Given the description of an element on the screen output the (x, y) to click on. 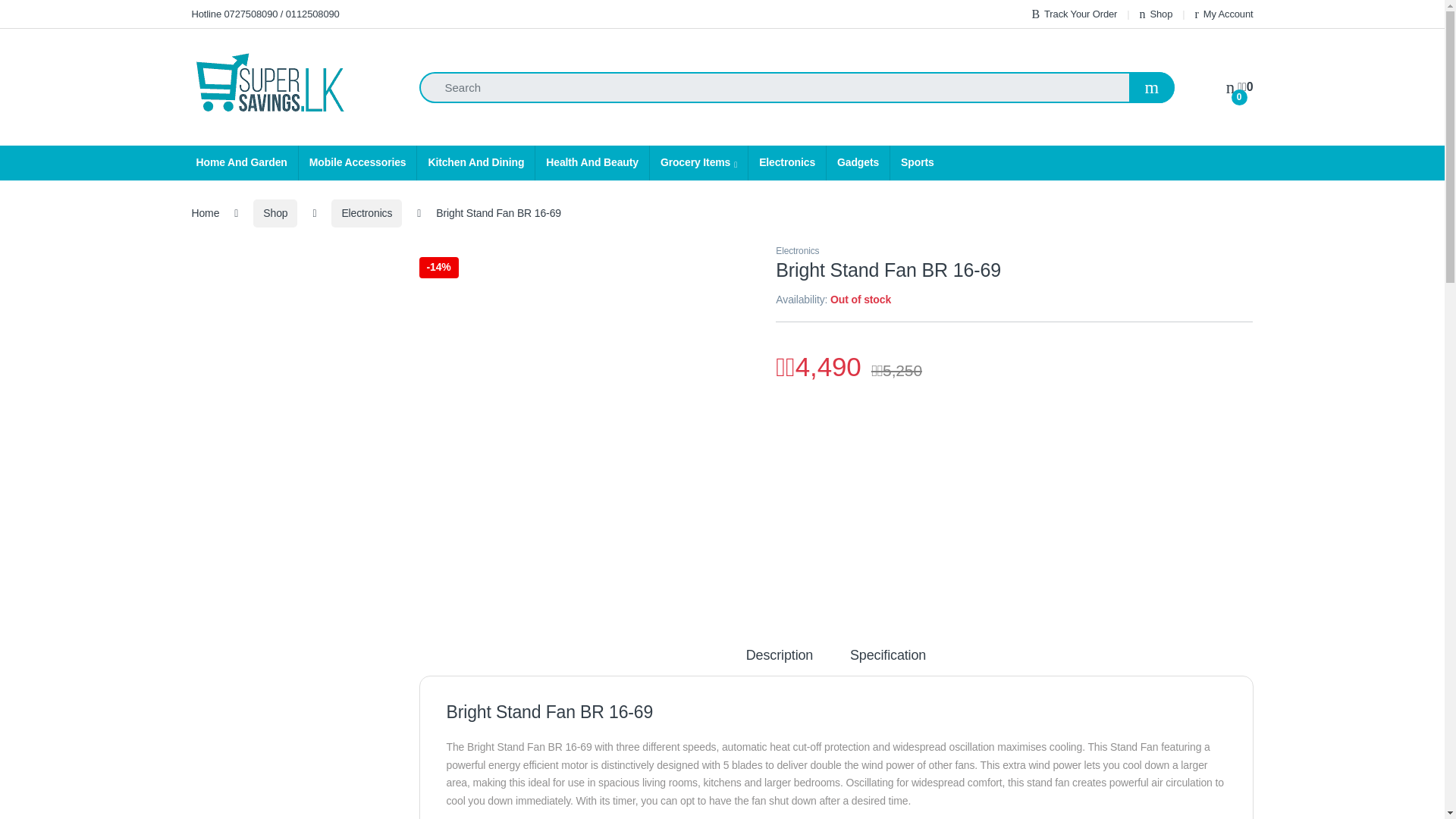
Health And Beauty (591, 162)
Shop (1156, 13)
My Account (1224, 13)
Mobile Accessories (357, 162)
Shop (1156, 13)
Grocery Items (698, 162)
Track Your Order (1073, 13)
Sports (916, 162)
Home And Garden (240, 162)
Gadgets (857, 162)
